Given the description of an element on the screen output the (x, y) to click on. 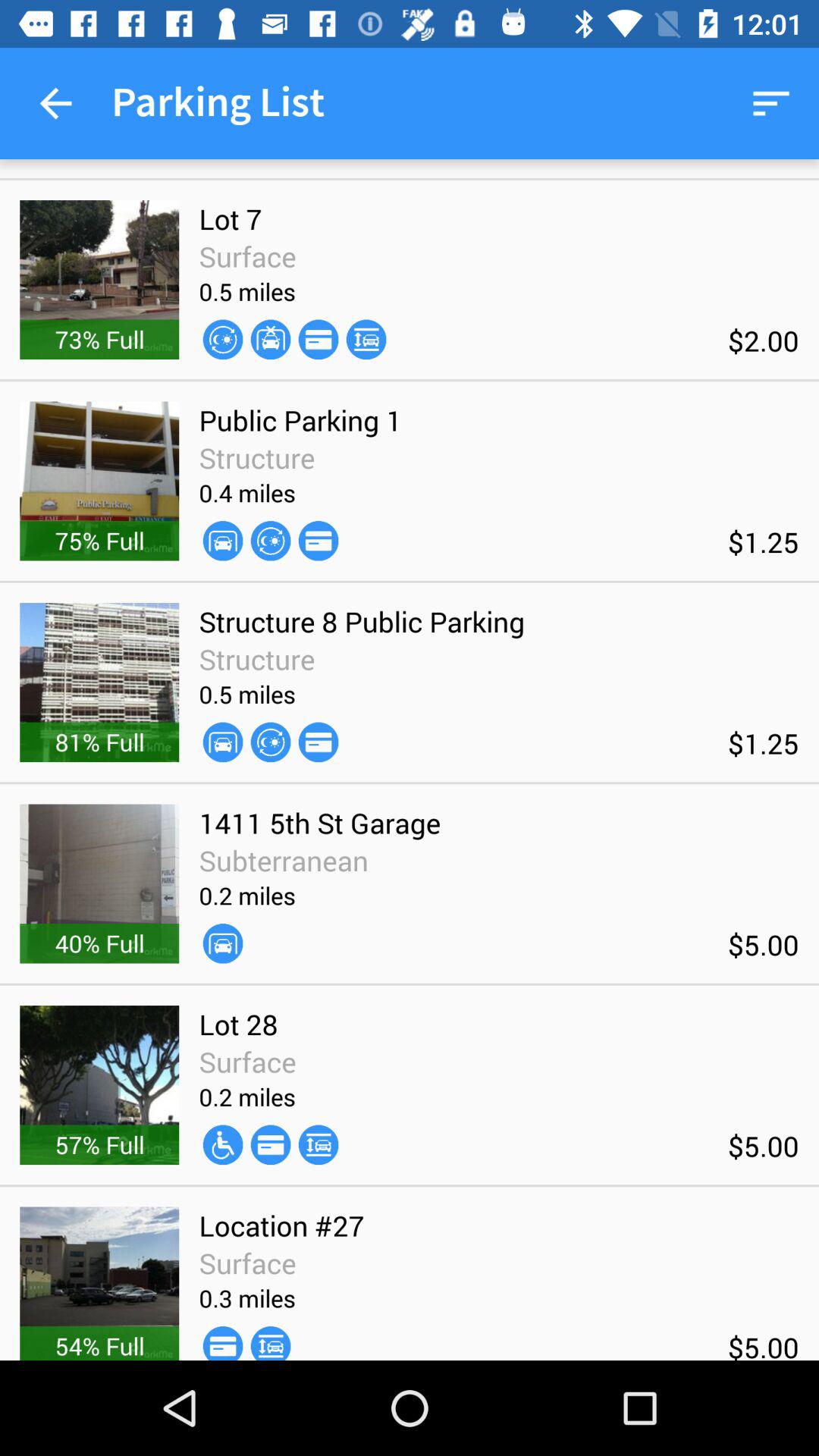
flip until location #27 icon (281, 1225)
